Given the description of an element on the screen output the (x, y) to click on. 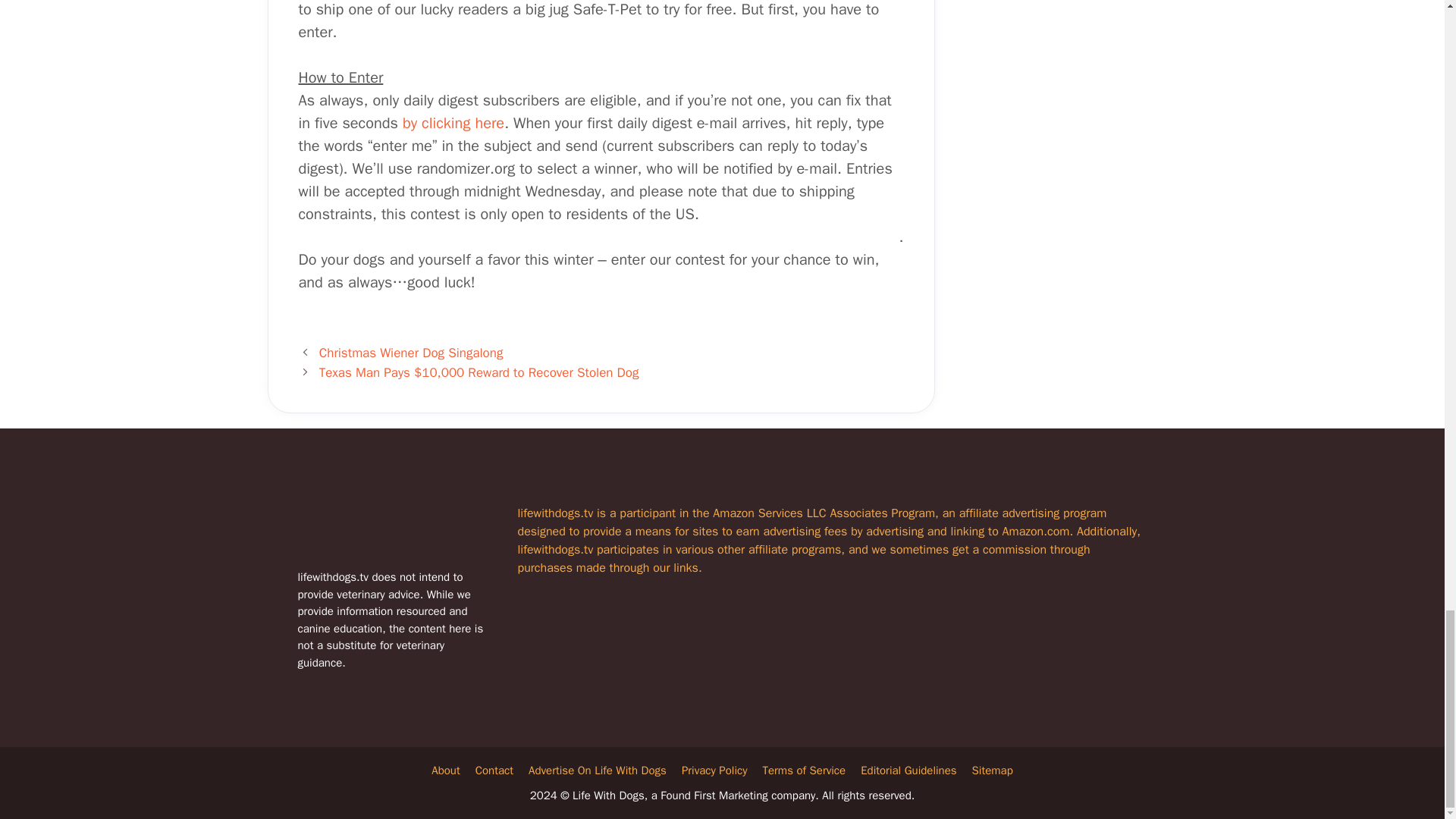
Editorial Guidelines (908, 770)
Terms of Service (803, 770)
Sitemap (992, 770)
Advertise On Life With Dogs (597, 770)
Privacy Policy (714, 770)
Contact (494, 770)
by clicking here (453, 122)
About (445, 770)
Christmas Wiener Dog Singalong (410, 352)
